Given the description of an element on the screen output the (x, y) to click on. 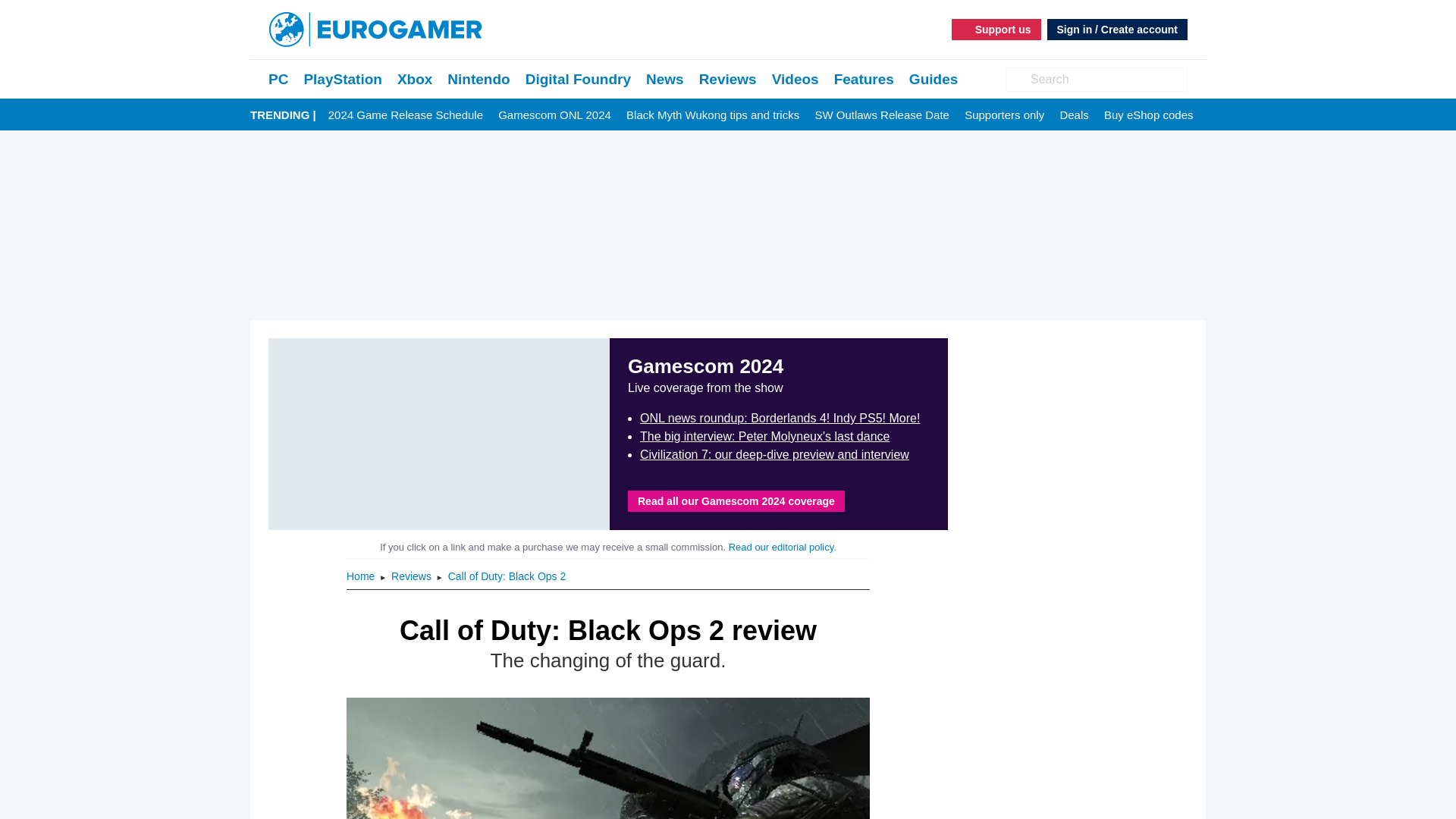
Digital Foundry (577, 78)
Reviews (727, 78)
Buy eShop codes (1148, 114)
2024 Game Release Schedule (406, 114)
Support us (996, 29)
The big interview: Peter Molyneux's last dance (764, 436)
Home (361, 576)
Deals (1073, 114)
Buy eShop codes (1148, 114)
News (665, 78)
